Given the description of an element on the screen output the (x, y) to click on. 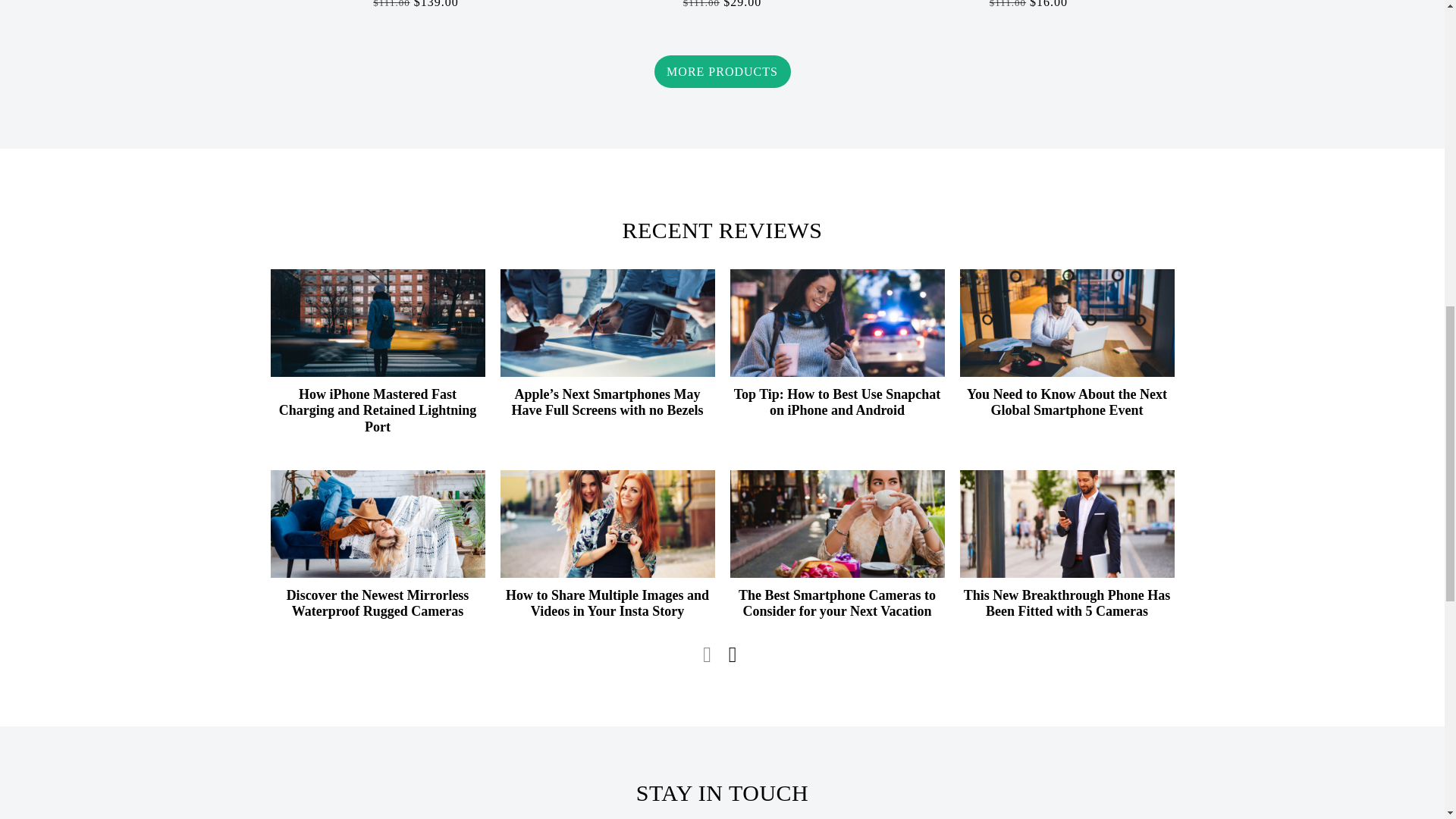
Top Tip: How to Best Use Snapchat on iPhone and Android (836, 322)
MORE PRODUCTS (721, 71)
Discover the Newest Mirrorless Waterproof Rugged Cameras (377, 603)
You Need to Know About the Next Global Smartphone Event (1066, 402)
You Need to Know About the Next Global Smartphone Event (1066, 322)
Top Tip: How to Best Use Snapchat on iPhone and Android (836, 402)
How to Share Multiple Images and Videos in Your Insta Story (607, 524)
How to Share Multiple Images and Videos in Your Insta Story (607, 603)
Discover the Newest Mirrorless Waterproof Rugged Cameras (376, 524)
